Given the description of an element on the screen output the (x, y) to click on. 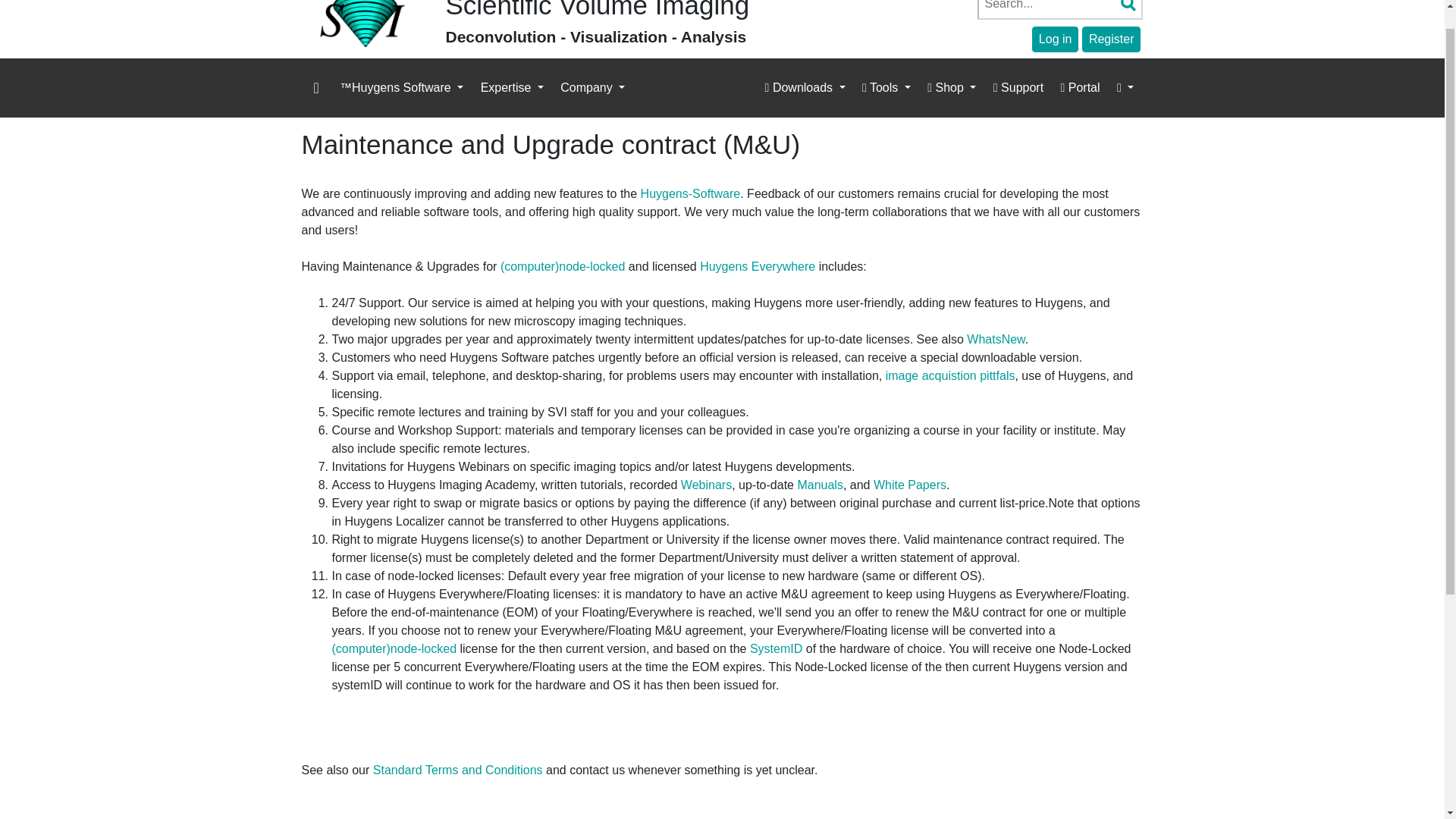
Log in (1055, 39)
Click here to register (1111, 39)
Register (1111, 39)
Click here to log in (1055, 39)
Scientific Volume Imaging B.V. (362, 19)
